Given the description of an element on the screen output the (x, y) to click on. 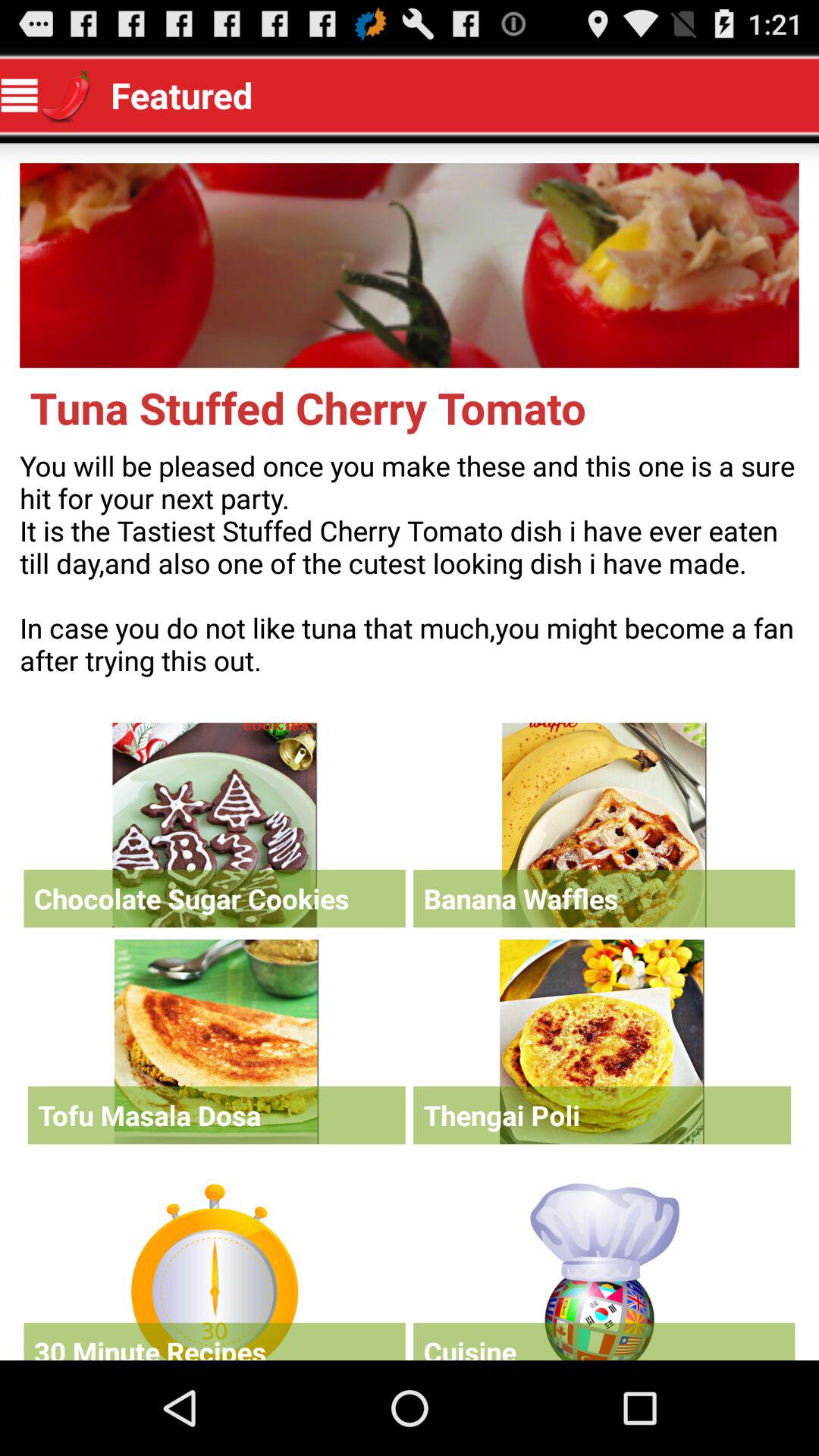
banana waffles (604, 824)
